Given the description of an element on the screen output the (x, y) to click on. 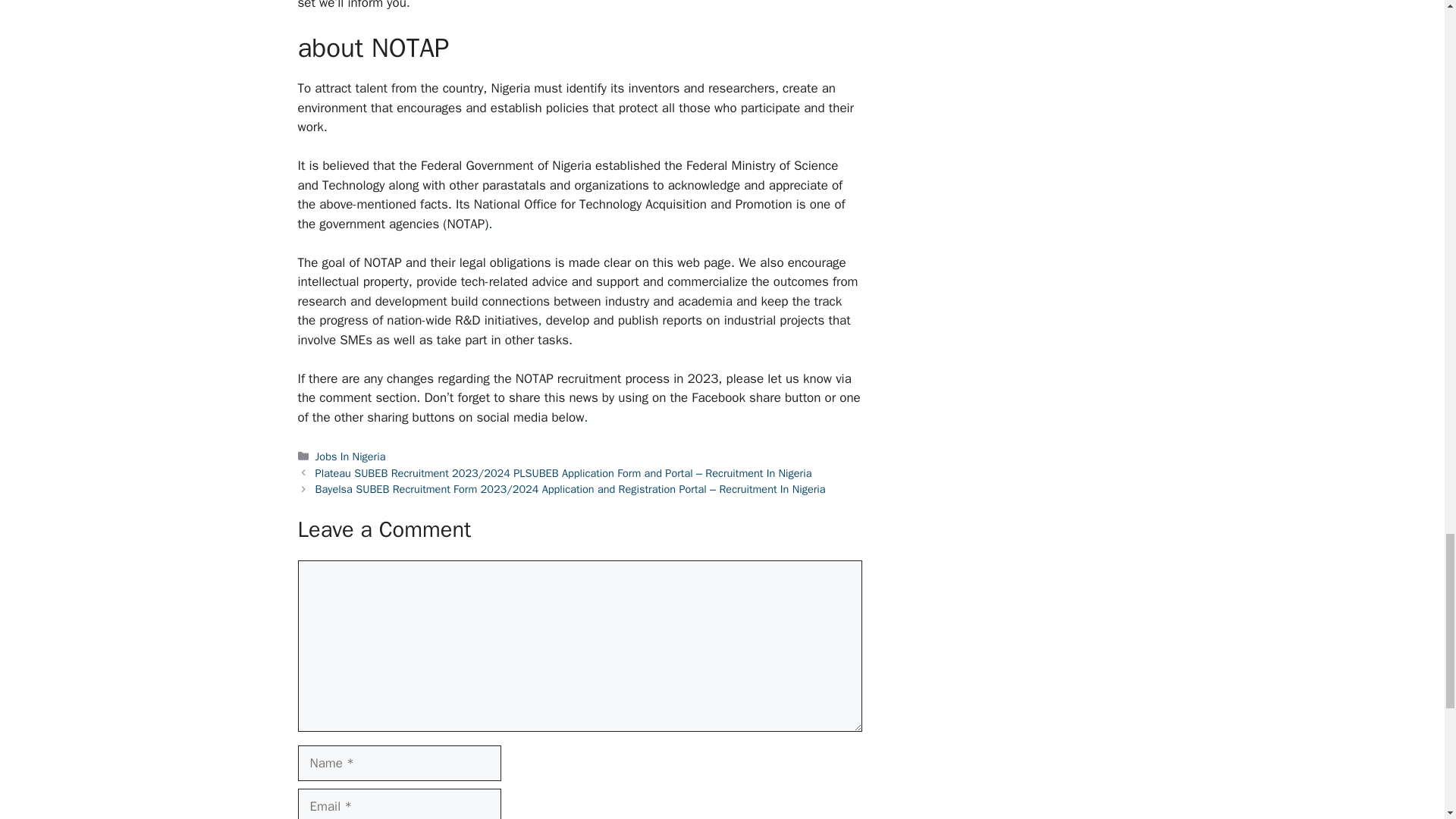
Jobs In Nigeria (350, 456)
